Given the description of an element on the screen output the (x, y) to click on. 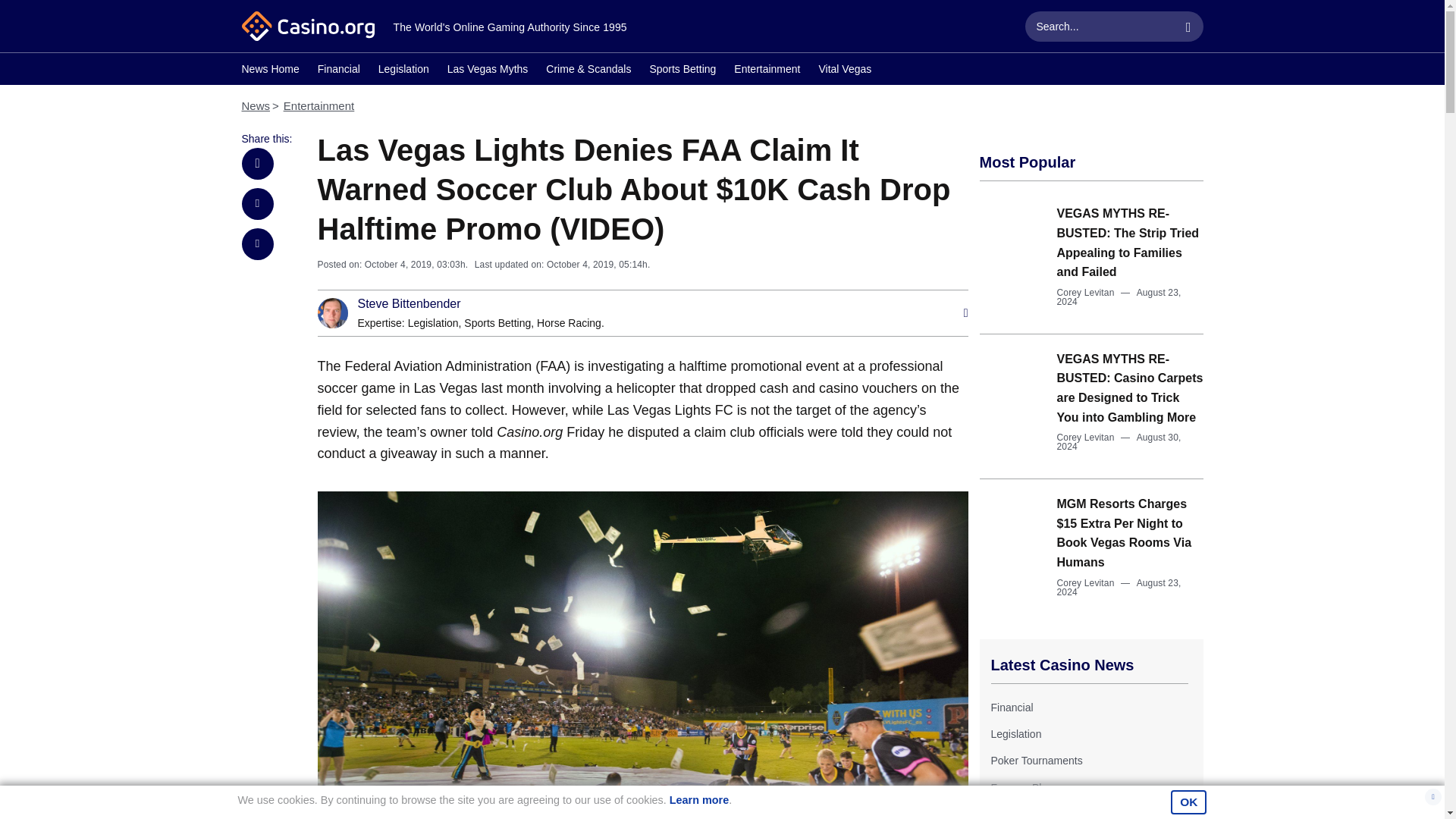
Steve Bittenbender (409, 304)
Financial (1011, 707)
Poker Tournaments (1035, 760)
Horse Racing (569, 322)
News Home (269, 70)
Sports Betting (497, 322)
Vital Vegas (845, 70)
Legislation (432, 322)
Sports Betting (682, 70)
Entertainment (766, 70)
